Given the description of an element on the screen output the (x, y) to click on. 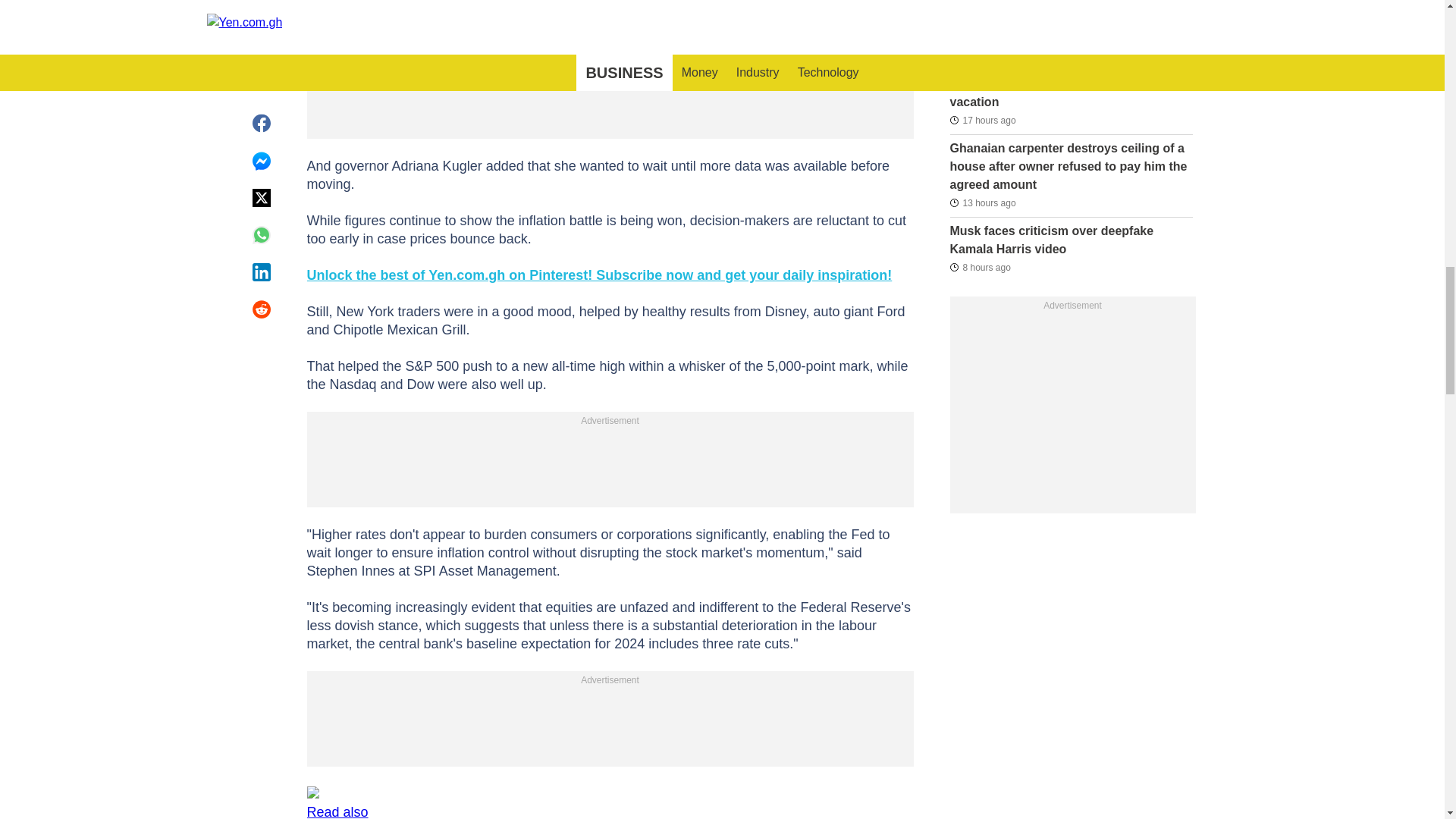
2024-07-29T20:29:03Z (979, 266)
2024-07-29T14:47:01Z (981, 37)
2024-07-29T15:30:25Z (981, 203)
2024-07-29T11:52:44Z (981, 119)
